Given the description of an element on the screen output the (x, y) to click on. 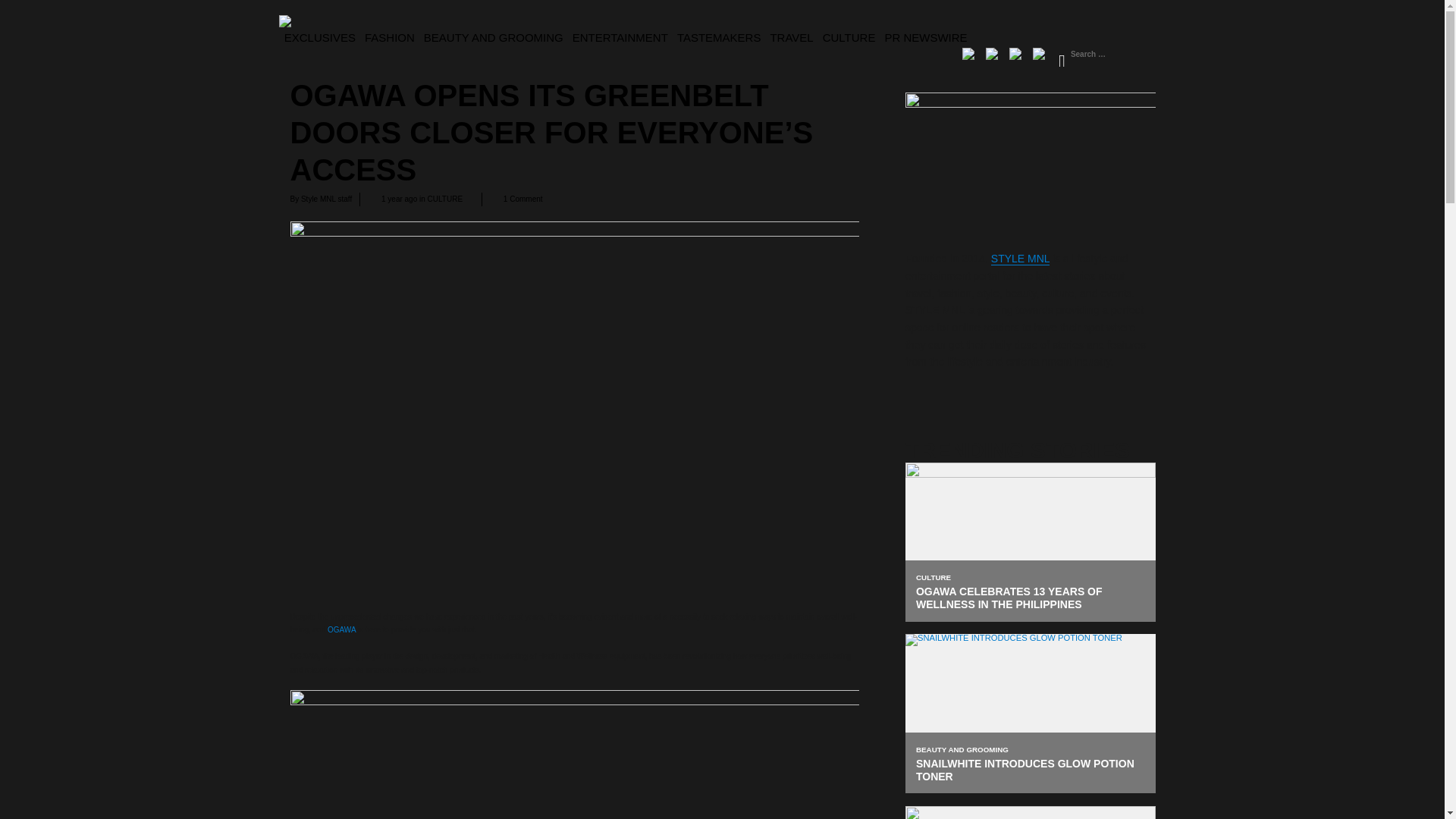
SEARCH (1061, 56)
Style MNL staff (326, 198)
TRAVEL (792, 36)
PR NEWSWIRE (926, 36)
BEAUTY AND GROOMING (494, 36)
FASHION (391, 36)
CULTURE (850, 36)
EXCLUSIVES (320, 36)
Search for: (1103, 54)
TASTEMAKERS (720, 36)
1 Comment (523, 198)
ENTERTAINMENT (621, 36)
OGAWA (341, 629)
